Given the description of an element on the screen output the (x, y) to click on. 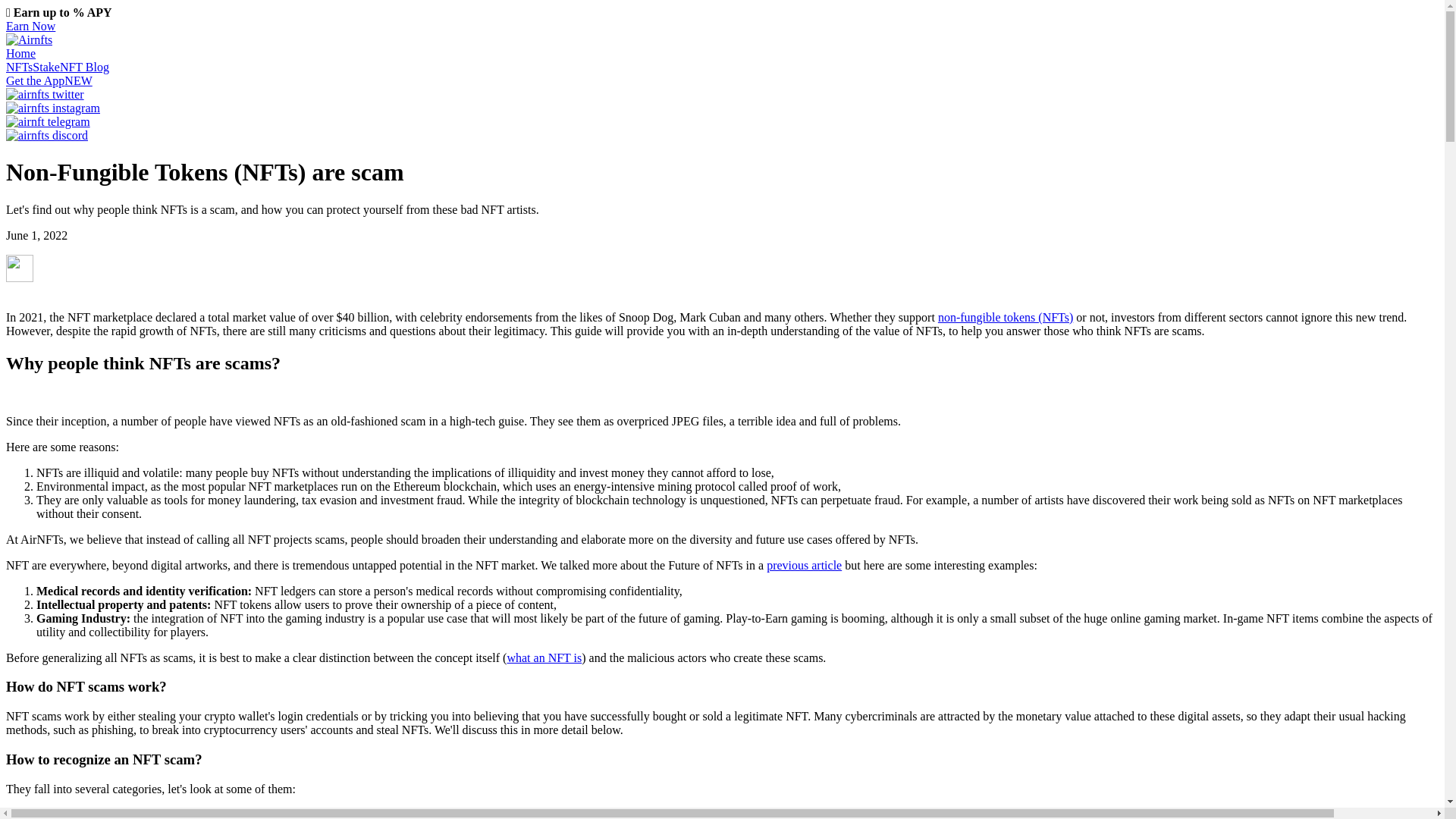
what an NFT is (543, 657)
Stake (45, 66)
Get the App (34, 80)
NEW (77, 80)
NFTs (18, 66)
previous article (804, 564)
Earn Now (30, 25)
Home (19, 52)
NFT Blog (84, 66)
